Given the description of an element on the screen output the (x, y) to click on. 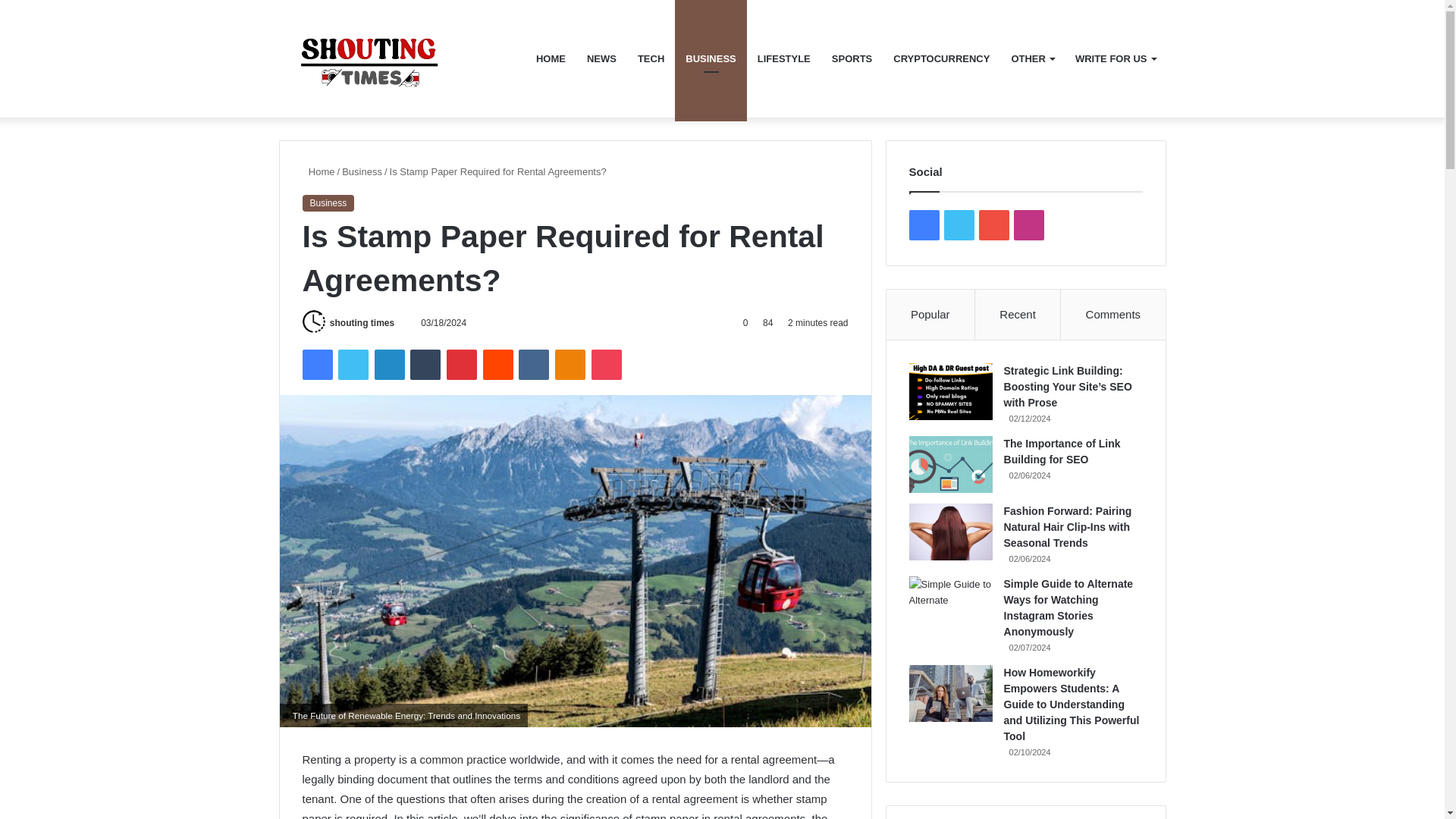
Pocket (606, 364)
shouting times (362, 322)
Business (327, 202)
Odnoklassniki (569, 364)
Pinterest (461, 364)
shoutingtimes.com (392, 58)
CRYPTOCURRENCY (941, 58)
Twitter (352, 364)
VKontakte (533, 364)
Facebook (316, 364)
Business (361, 171)
Pocket (606, 364)
Tumblr (425, 364)
Odnoklassniki (569, 364)
Home (317, 171)
